Given the description of an element on the screen output the (x, y) to click on. 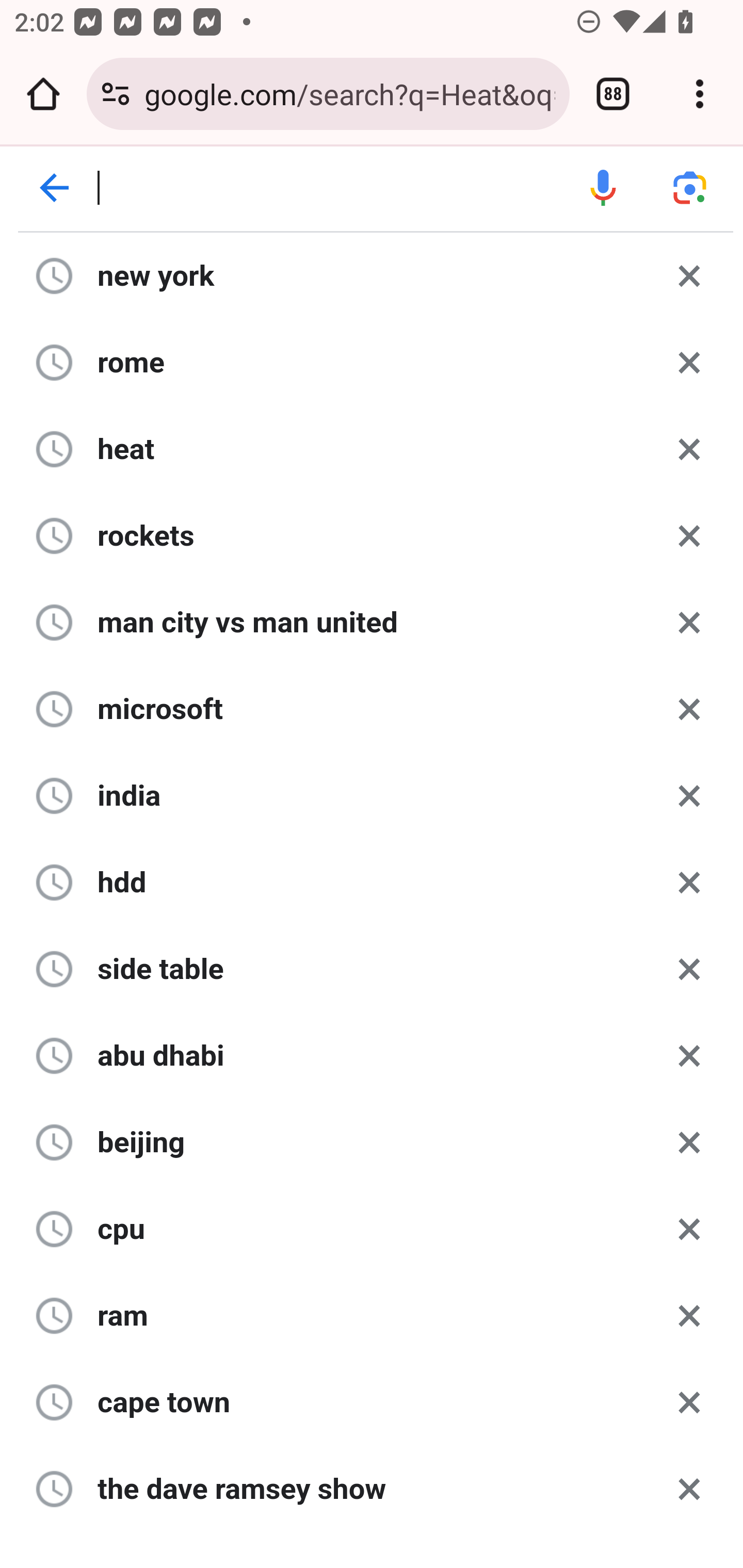
Open the home page (43, 93)
Connection is secure (115, 93)
Switch or close tabs (612, 93)
Customize and control Google Chrome (699, 93)
Back (54, 188)
Search using your camera or photos (690, 188)
Delete (689, 274)
Delete (689, 362)
Delete (689, 448)
Delete (689, 534)
Delete (689, 621)
Delete (689, 708)
Delete (689, 794)
Delete (689, 881)
Delete (689, 967)
Delete (689, 1055)
Delete (689, 1141)
Delete (689, 1228)
Delete (689, 1315)
Delete (689, 1401)
Delete (689, 1487)
